Given the description of an element on the screen output the (x, y) to click on. 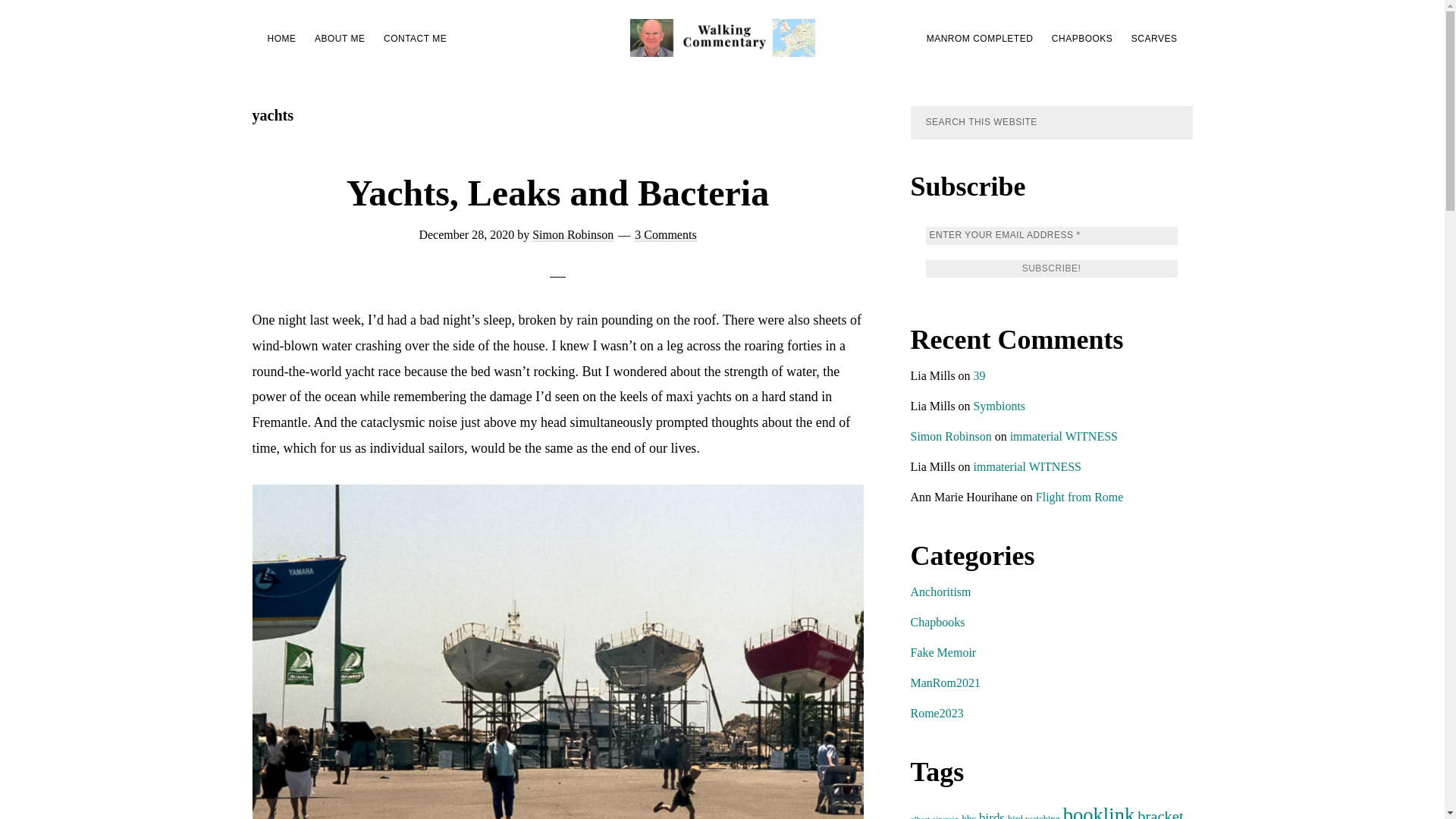
CONTACT ME (414, 37)
Simon Robinson (572, 234)
Subscribe! (1050, 269)
Yachts, Leaks and Bacteria (557, 192)
CHAPBOOKS (1082, 37)
ABOUT ME (339, 37)
Subscribe! (1050, 269)
